Given the description of an element on the screen output the (x, y) to click on. 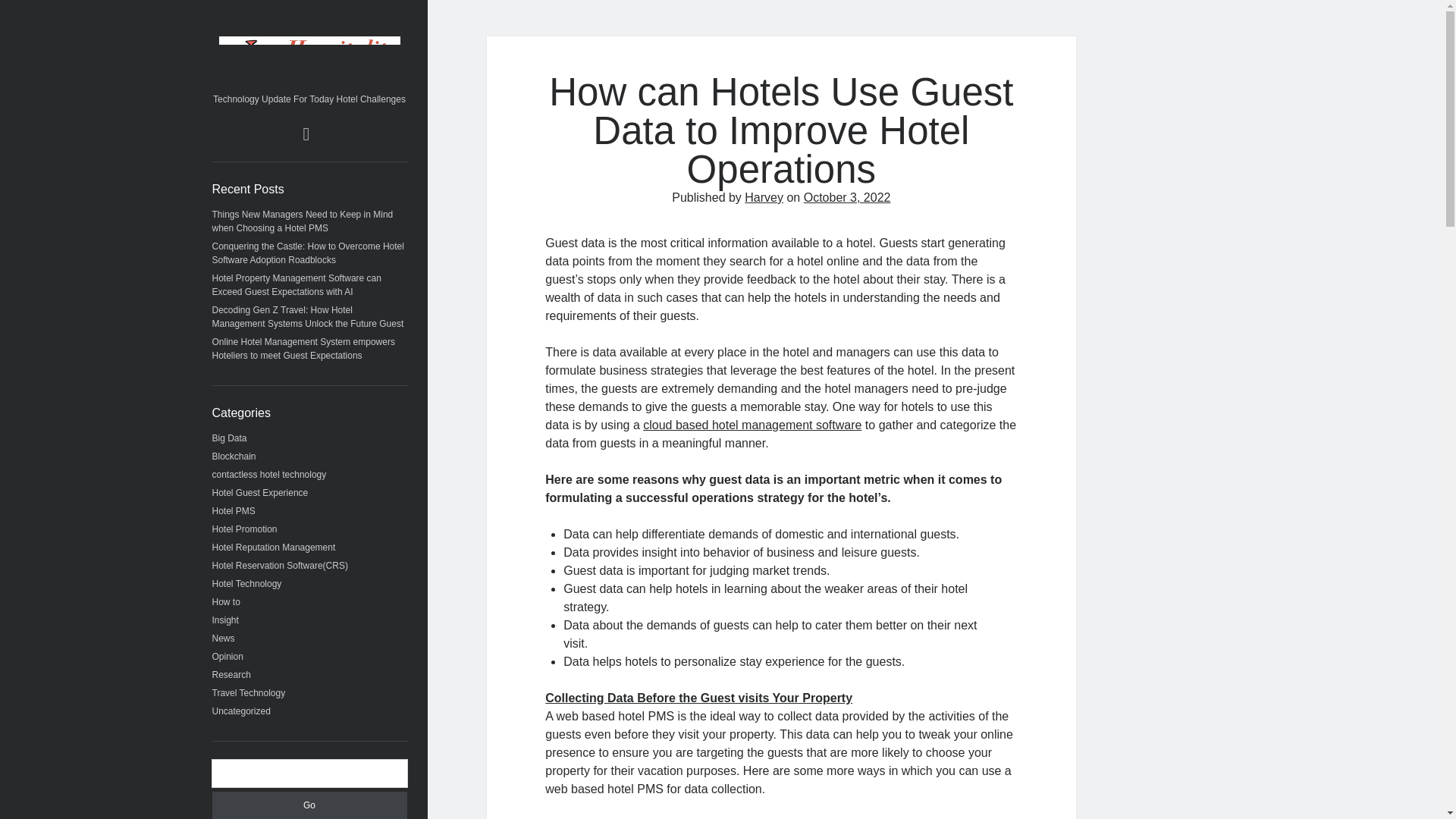
Opinion (227, 656)
Hotel Promotion (245, 529)
Hotel Reputation Management (274, 547)
contactless hotel technology (269, 474)
Go (309, 805)
Hotel Technology (247, 583)
How to (226, 602)
Hotel PMS (234, 511)
